Given the description of an element on the screen output the (x, y) to click on. 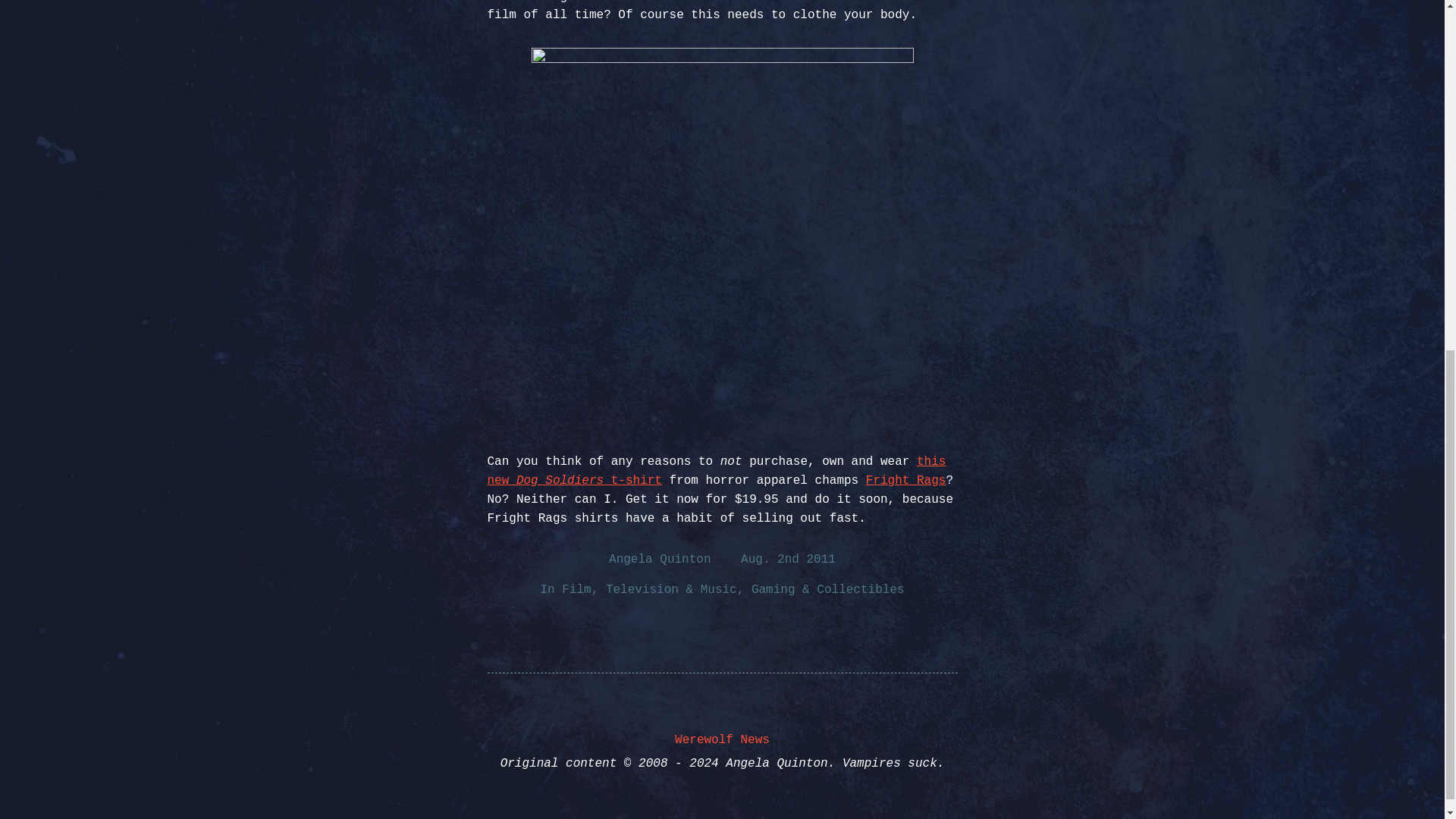
Aug. 2nd 2011 (788, 559)
this new Dog Soldiers t-shirt (715, 471)
Werewolf News (722, 739)
Angela Quinton (659, 559)
Fright Rags (906, 480)
Posts by Angela Quinton (659, 559)
